Given the description of an element on the screen output the (x, y) to click on. 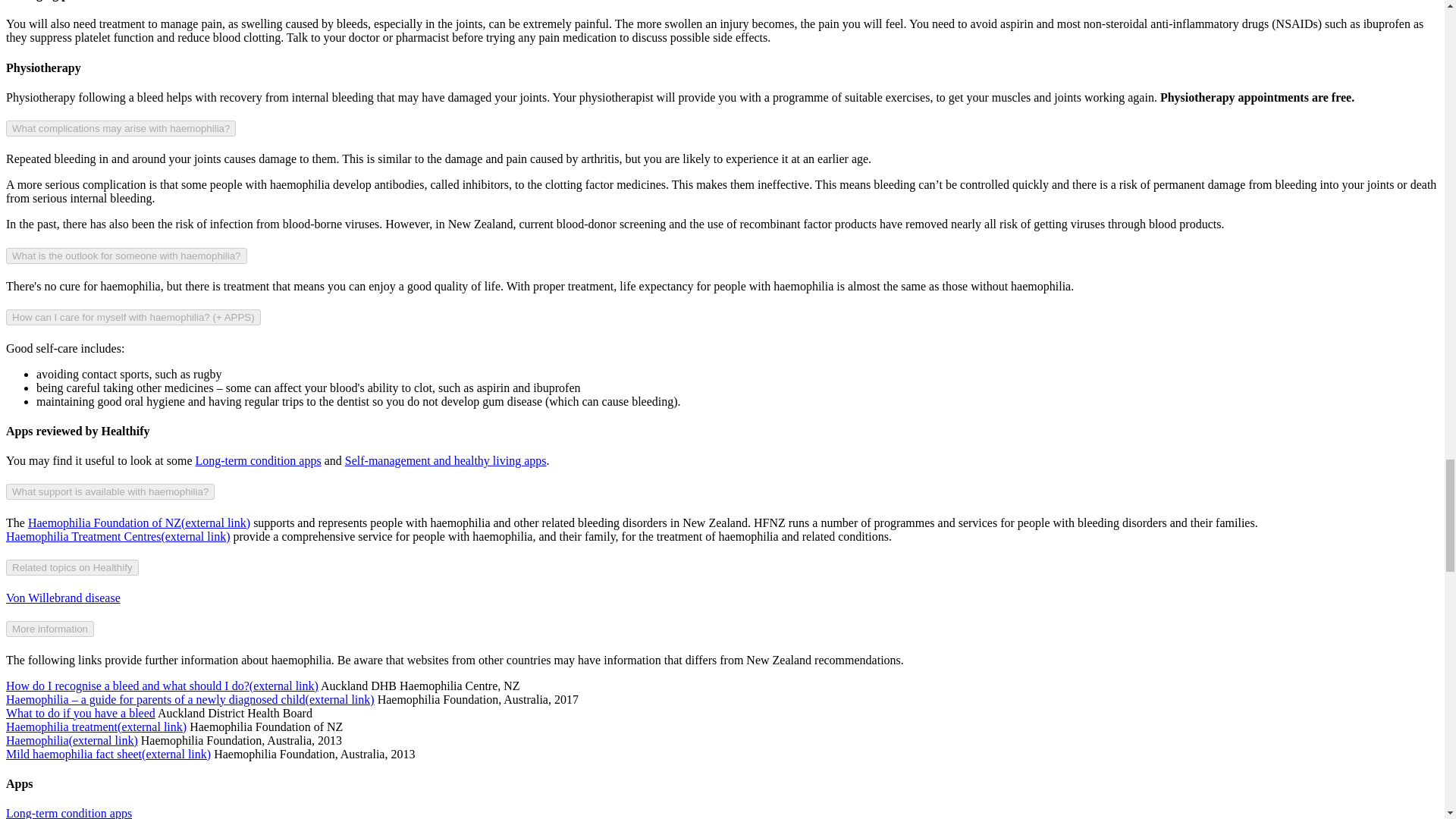
Von Willebrand disease (62, 597)
Open external link (189, 698)
Open external link (161, 685)
Open external link (95, 726)
Haemophilia (71, 739)
Mild haemophilia fact sheet (108, 753)
Open external link (117, 535)
Open external link (138, 522)
